Given the description of an element on the screen output the (x, y) to click on. 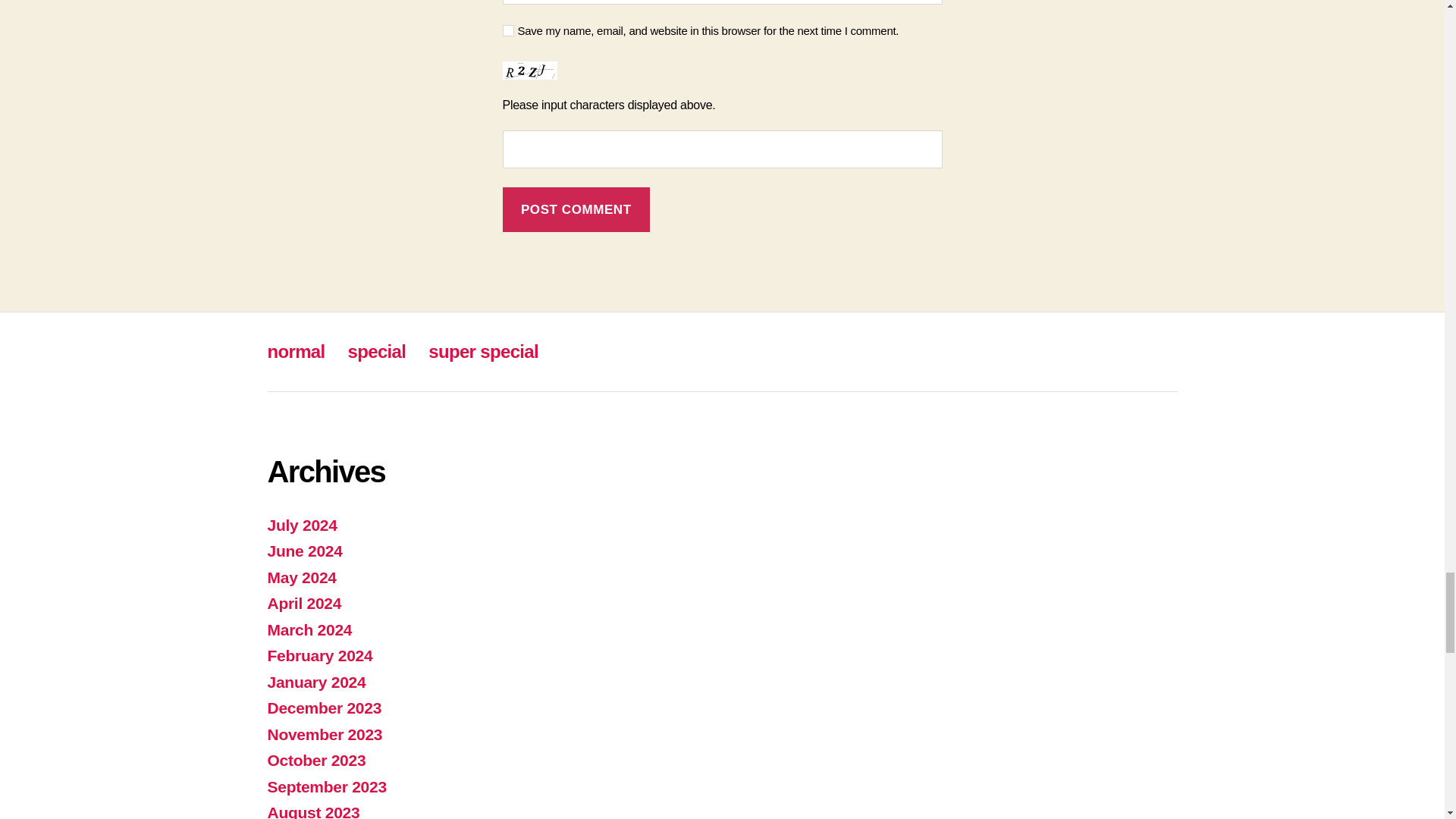
Post Comment (575, 209)
April 2024 (303, 602)
special (376, 351)
July 2024 (301, 524)
Post Comment (575, 209)
March 2024 (309, 629)
February 2024 (319, 655)
May 2024 (301, 577)
yes (507, 30)
normal (295, 351)
June 2024 (304, 550)
super special (483, 351)
